Given the description of an element on the screen output the (x, y) to click on. 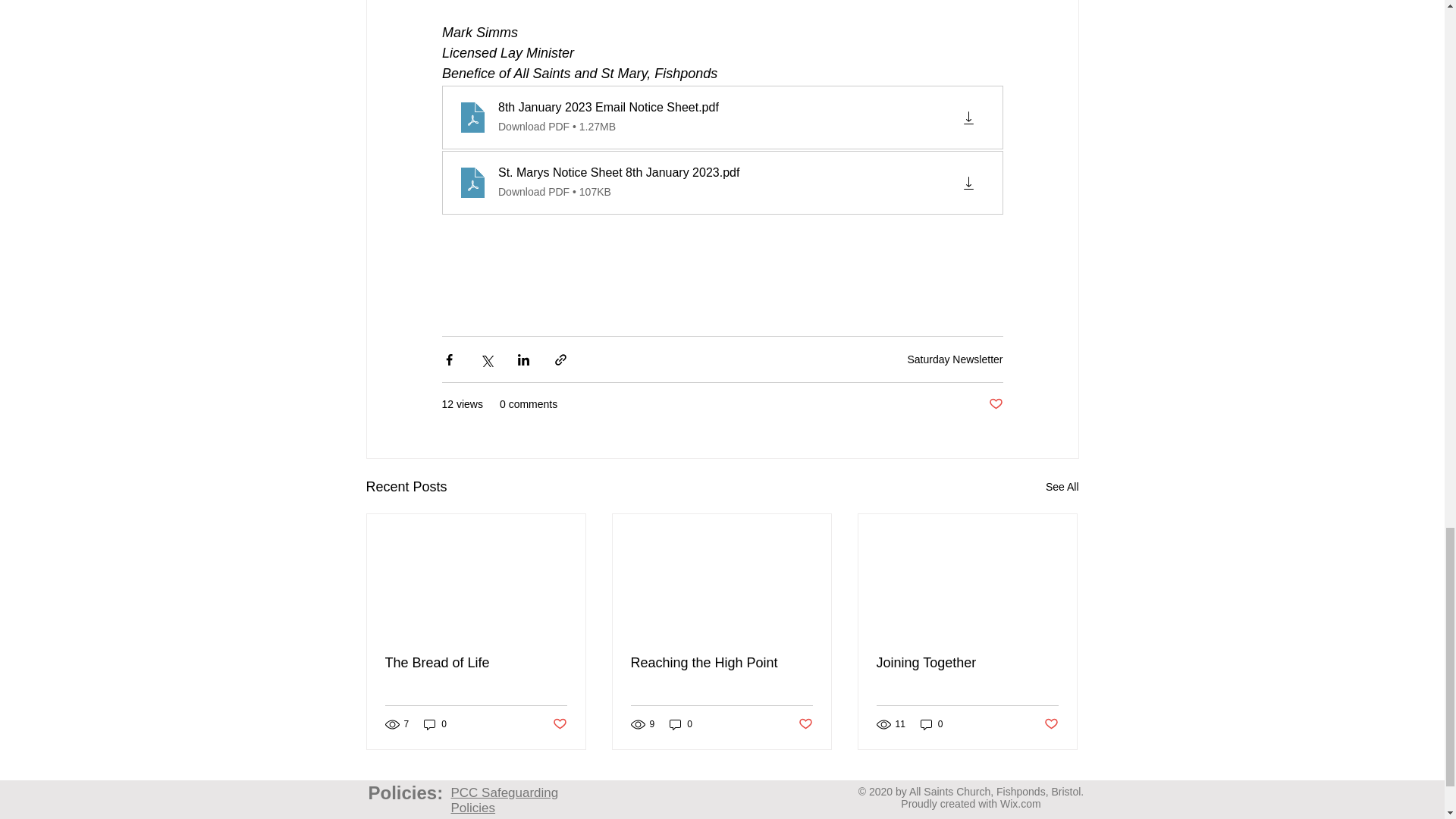
0 (435, 724)
See All (1061, 486)
Post not marked as liked (995, 404)
Post not marked as liked (558, 723)
Saturday Newsletter (955, 358)
0 (681, 724)
Post not marked as liked (804, 723)
The Bread of Life (476, 662)
Reaching the High Point (721, 662)
